Given the description of an element on the screen output the (x, y) to click on. 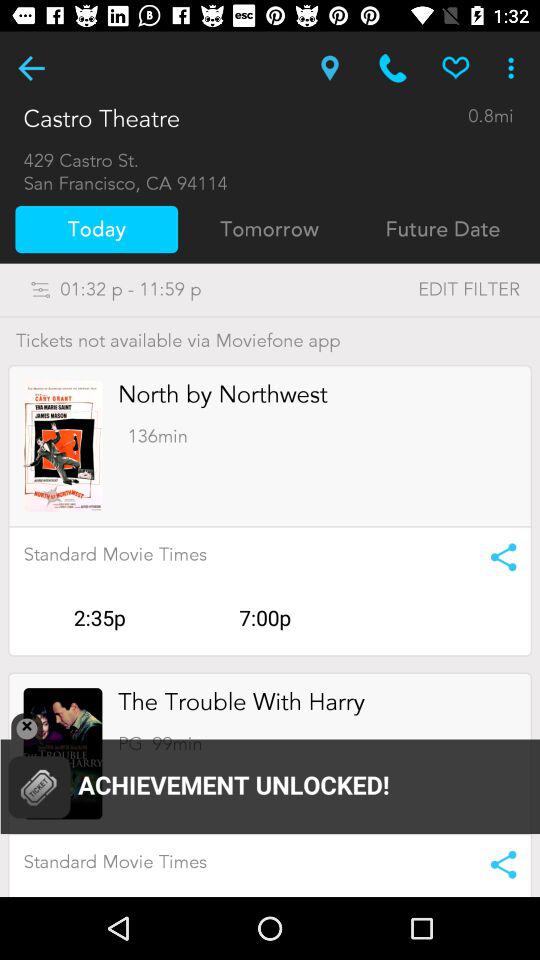
the button is used share button (496, 557)
